Given the description of an element on the screen output the (x, y) to click on. 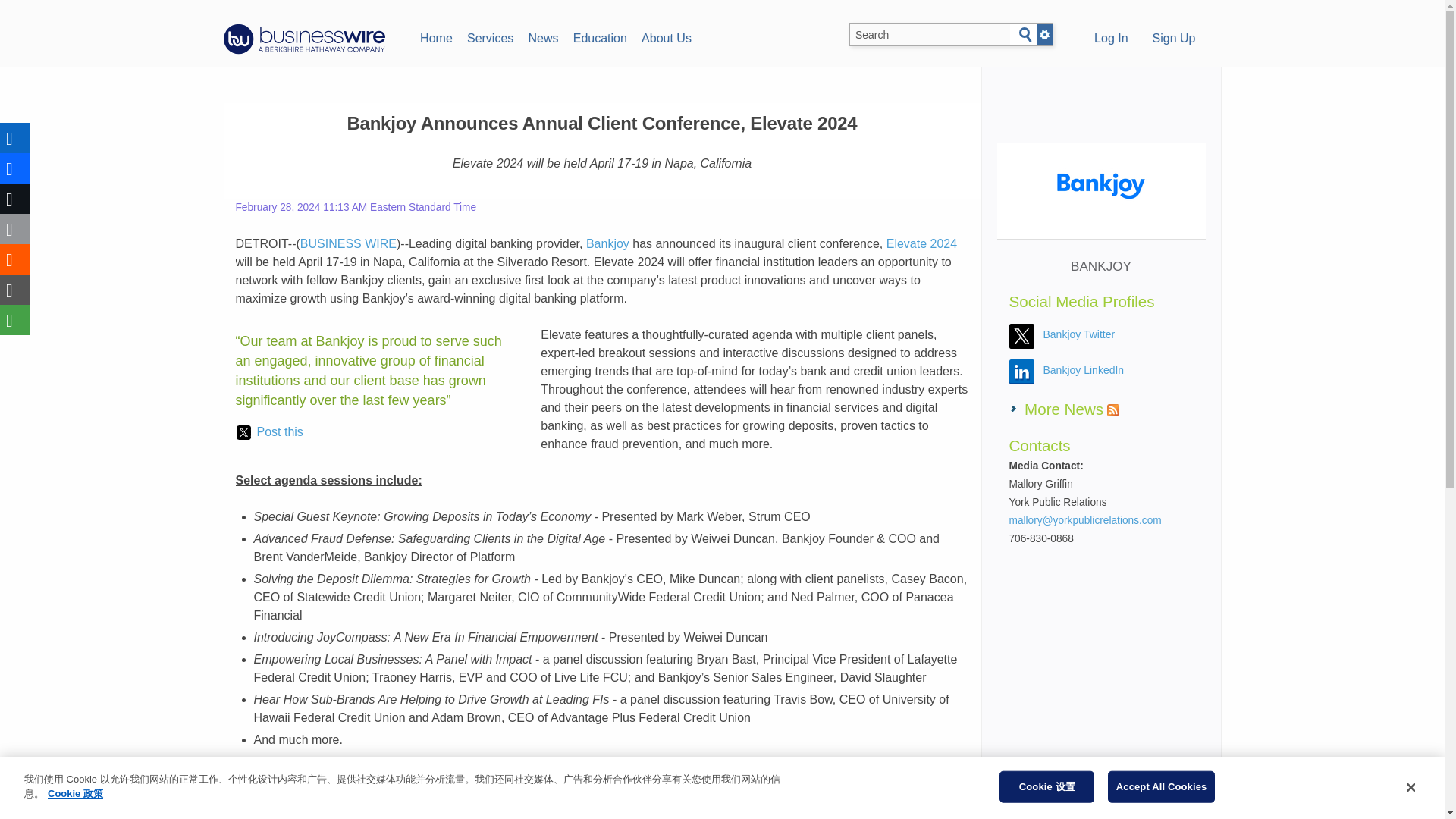
Search BusinessWire.com (930, 34)
Facebook (15, 168)
Home (436, 36)
Services (490, 36)
Bankjoy LinkedIn (1083, 369)
BUSINESS WIRE (347, 243)
Bankjoy Twitter (1079, 334)
Elevate 2024 (921, 243)
Copy Link (15, 289)
Bankjoy (607, 243)
About Us (665, 36)
LinkedIn (15, 137)
More Options (15, 319)
Email This (15, 228)
Education (599, 36)
